Given the description of an element on the screen output the (x, y) to click on. 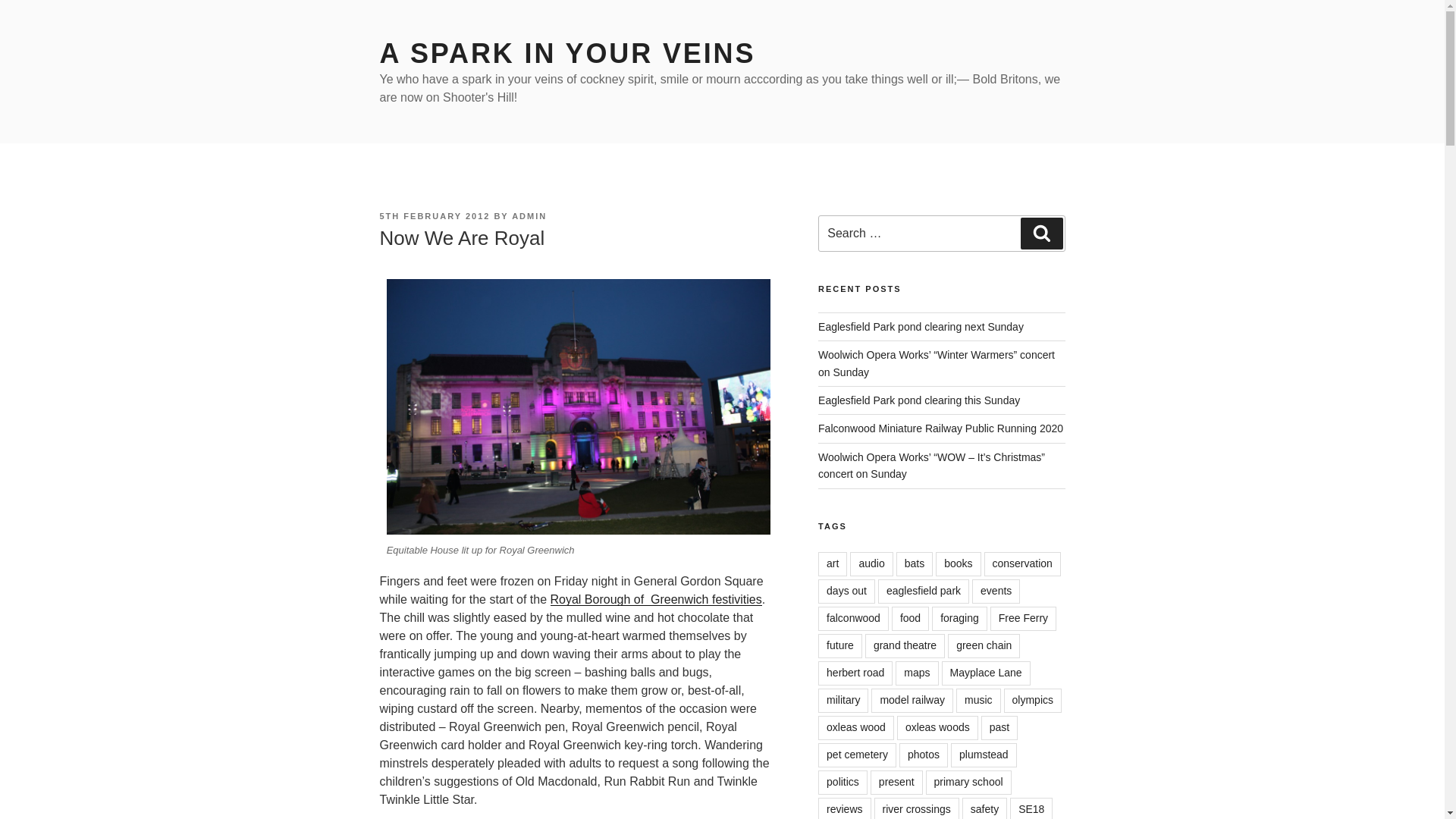
5TH FEBRUARY 2012 (433, 215)
foraging (959, 618)
ADMIN (529, 215)
Royal Borough of  Greenwich festivities (655, 599)
art (832, 564)
A SPARK IN YOUR VEINS (566, 52)
conservation (1022, 564)
Eaglesfield Park pond clearing this Sunday (919, 399)
Greenwich Council web site description of the festivities (655, 599)
falconwood (853, 618)
books (957, 564)
bats (914, 564)
audio (871, 564)
Search (1041, 233)
